Given the description of an element on the screen output the (x, y) to click on. 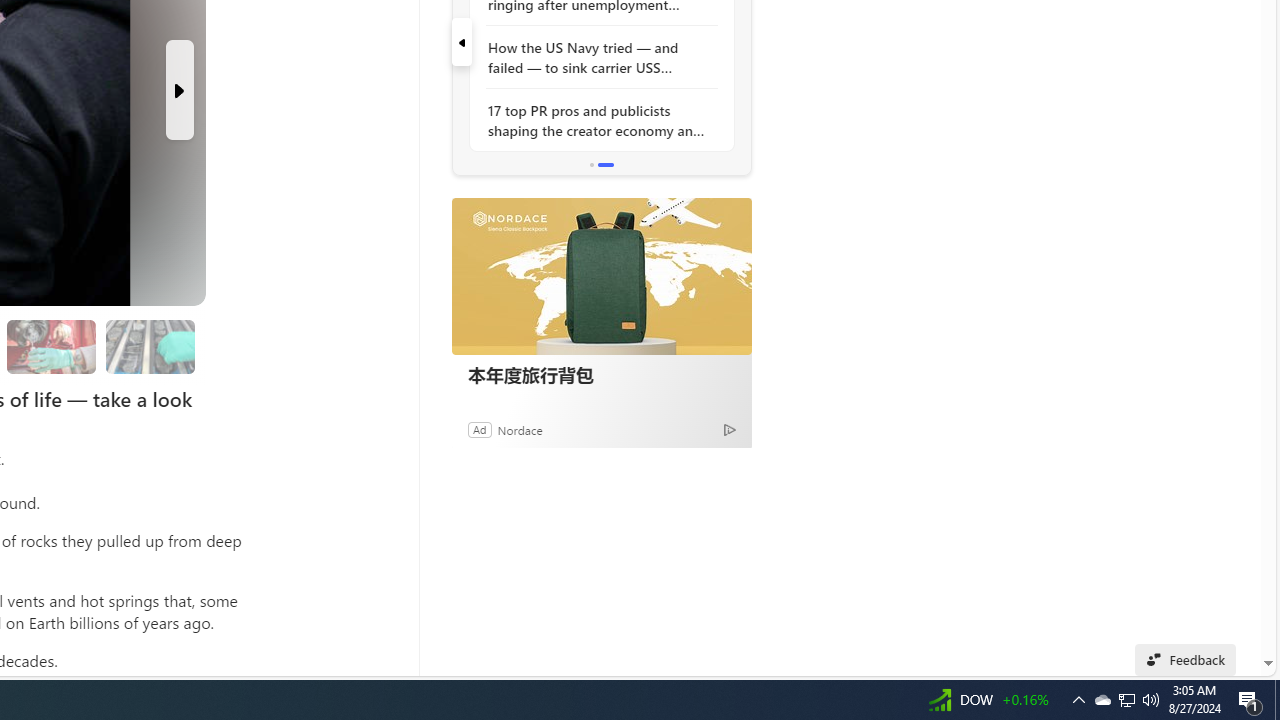
Next Slide (179, 89)
Class: progress (149, 343)
Researchers are still studying the samples (150, 346)
previous (461, 42)
Researchers are still studying the samples (149, 346)
